Given the description of an element on the screen output the (x, y) to click on. 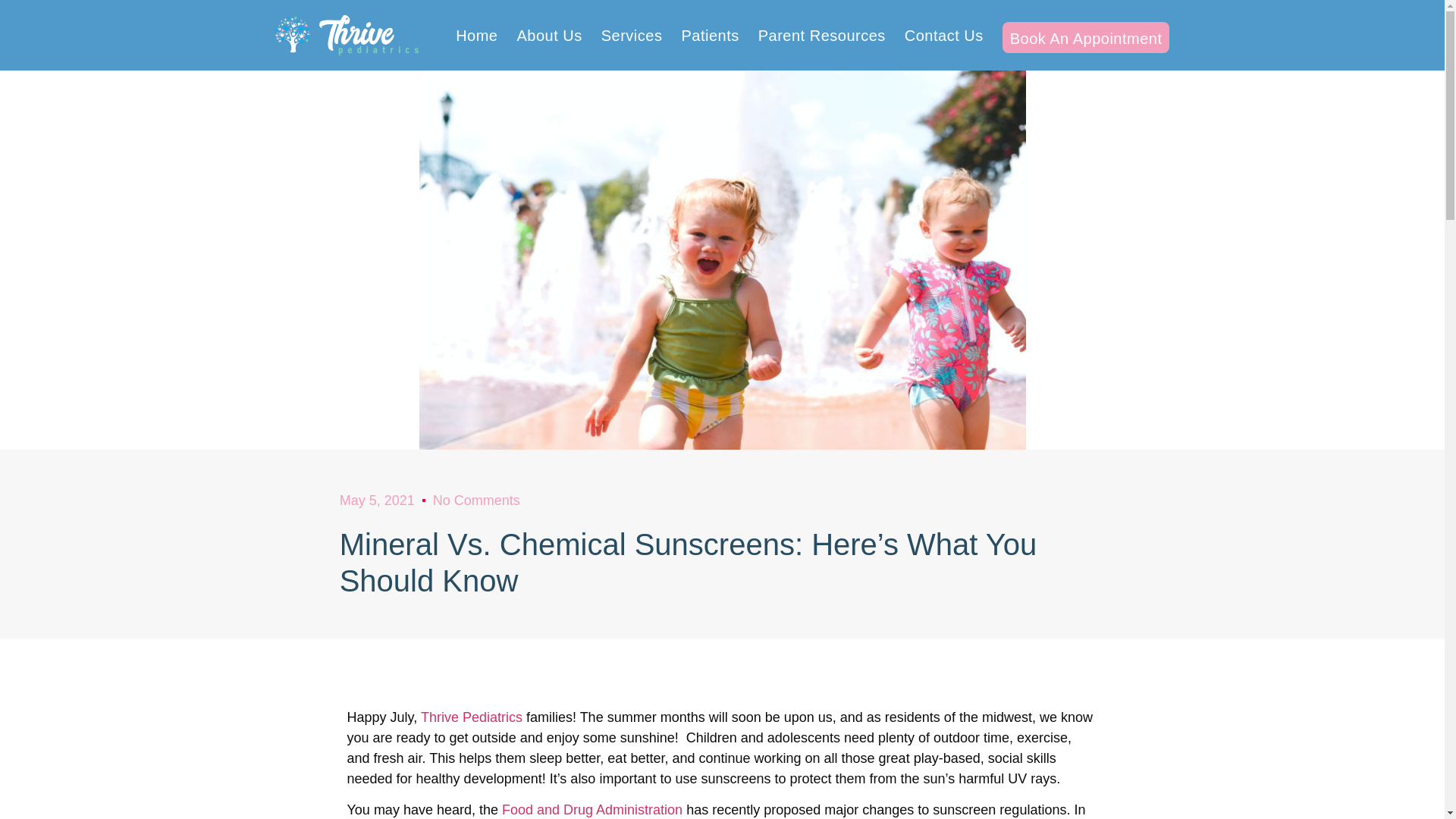
Book An Appointment (1086, 37)
Services (631, 35)
Patients (709, 35)
Home (476, 35)
Our Pediatric Care Services (1086, 37)
Home (476, 35)
No Comments (475, 500)
About Us (548, 35)
Food and Drug Administration (592, 809)
Thrive Pediatrics (471, 717)
